Given the description of an element on the screen output the (x, y) to click on. 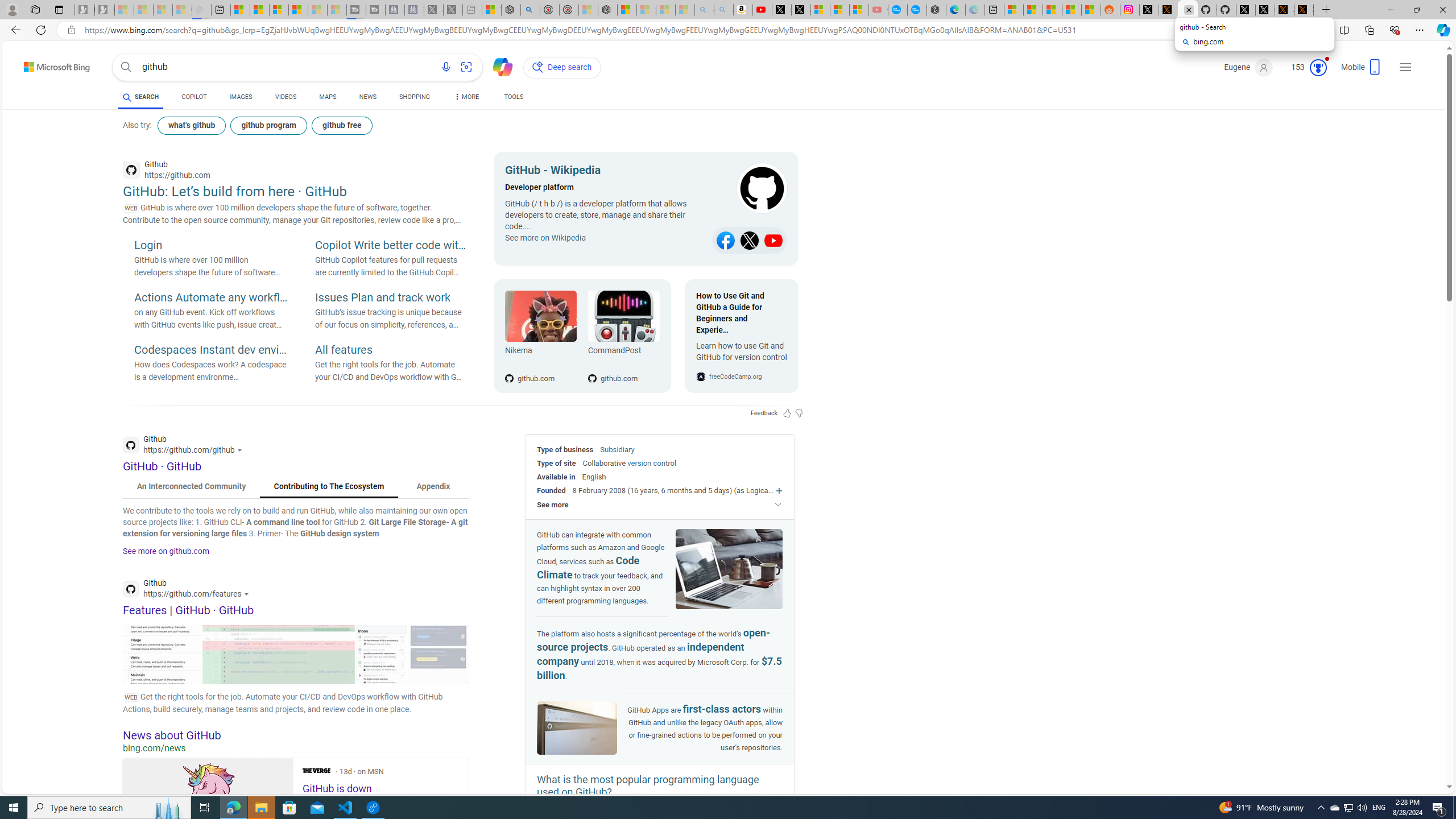
Subsidiary (616, 449)
An Interconnected Community (191, 486)
Amazon Echo Dot PNG - Search Images - Sleeping (723, 9)
Actions Automate any workflow (210, 298)
Read aloud this page (Ctrl+Shift+U) (1291, 29)
Shanghai, China weather forecast | Microsoft Weather (1033, 9)
amazon - Search - Sleeping (704, 9)
VIDEOS (285, 96)
Tab actions menu (58, 9)
